Given the description of an element on the screen output the (x, y) to click on. 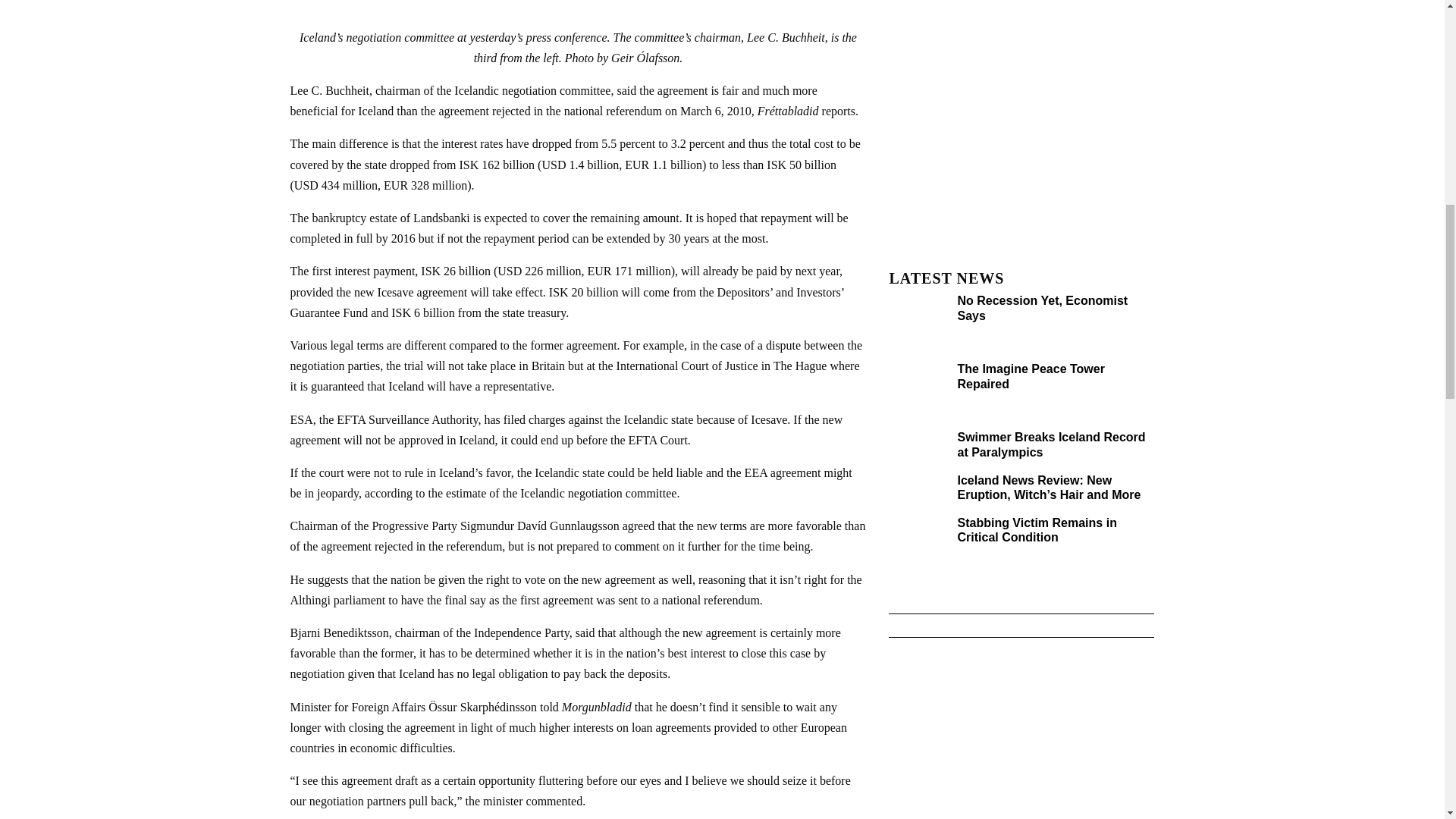
No Recession Yet, Economist Says (1041, 307)
Stabbing Victim Remains in Critical Condition (1036, 529)
Swimmer Breaks Iceland Record at Paralympics (1050, 443)
The Imagine Peace Tower Repaired (1029, 375)
